Given the description of an element on the screen output the (x, y) to click on. 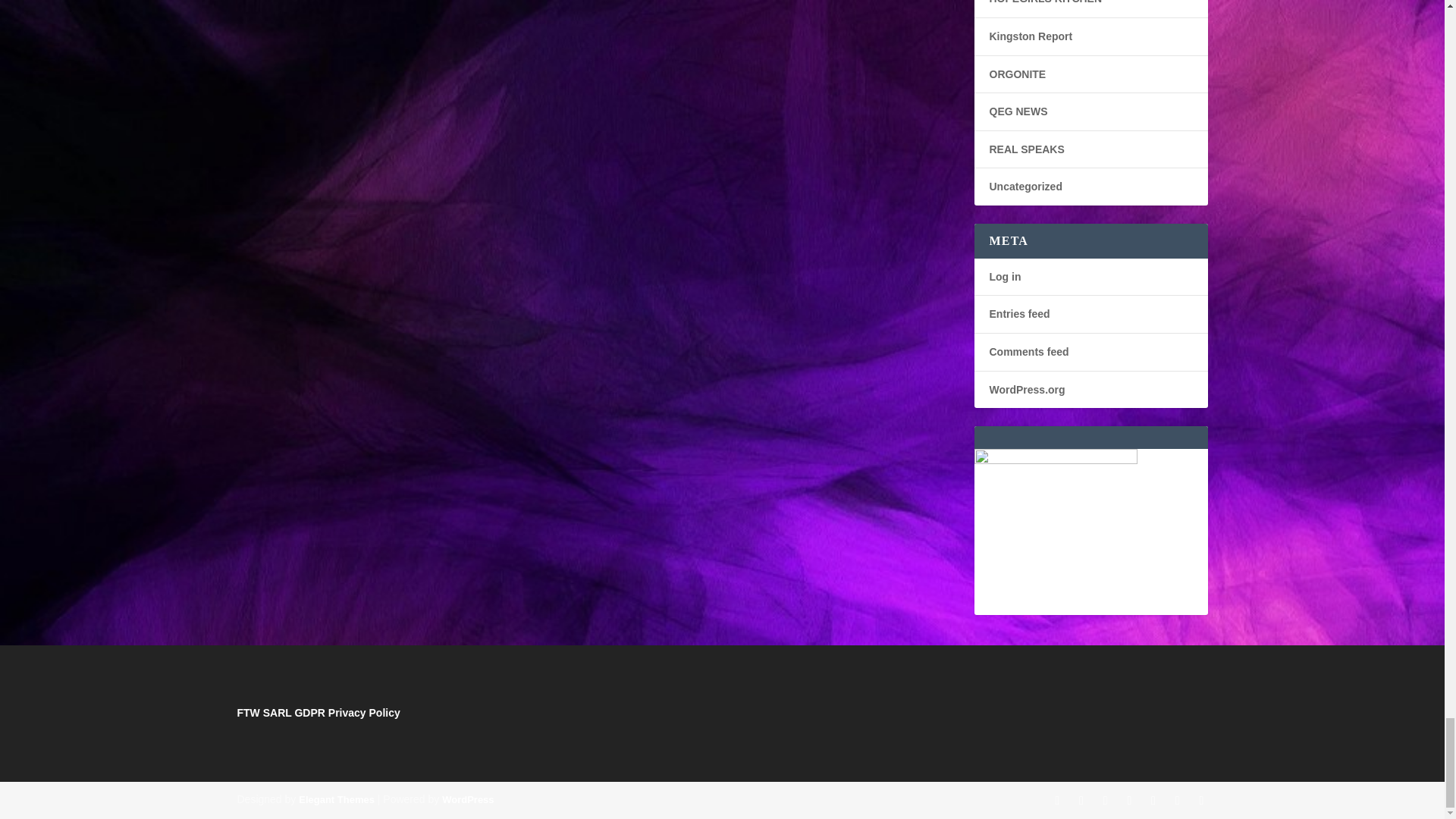
Premium WordPress Themes (336, 799)
Latest updates on our QEG technology projects (1017, 111)
